Given the description of an element on the screen output the (x, y) to click on. 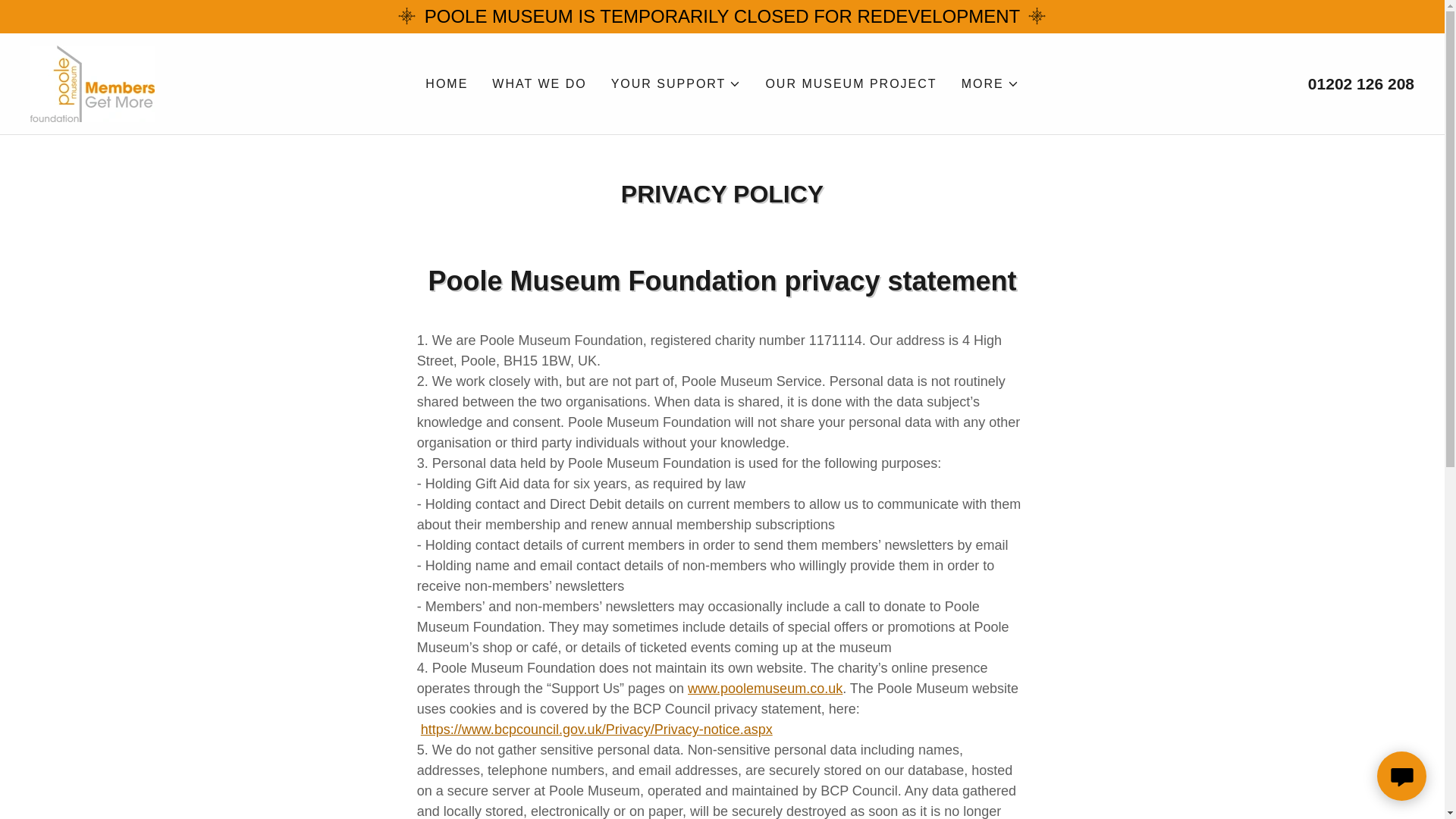
MORE (989, 83)
HOME (445, 83)
www.poolemuseum.co.uk (765, 688)
YOUR SUPPORT (676, 83)
WHAT WE DO (539, 83)
01202 126 208 (1360, 82)
OUR MUSEUM PROJECT (850, 83)
Poole Museum Foundation (92, 82)
